Given the description of an element on the screen output the (x, y) to click on. 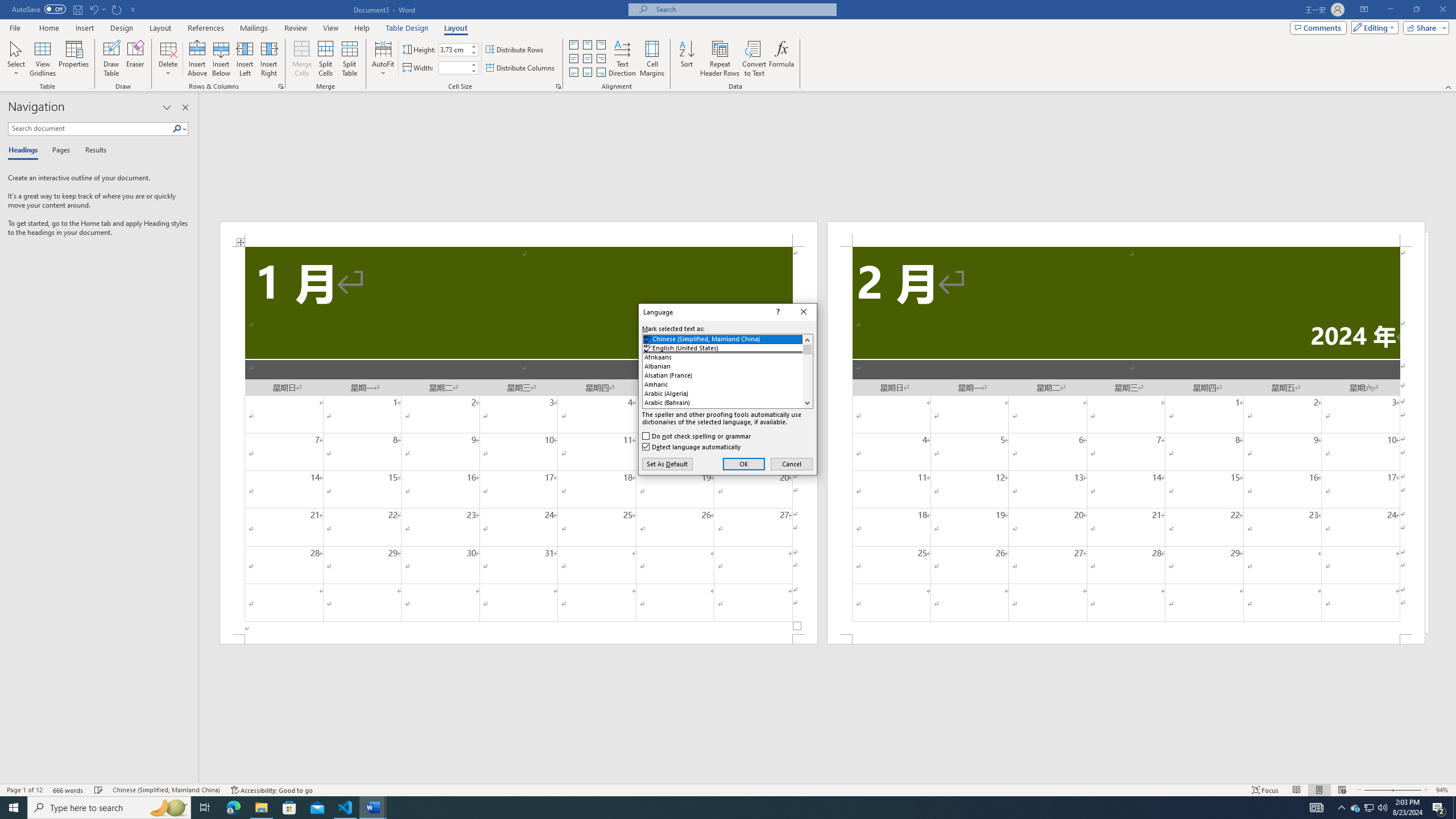
Line down (807, 402)
Layout (455, 28)
Sort... (686, 58)
